Given the description of an element on the screen output the (x, y) to click on. 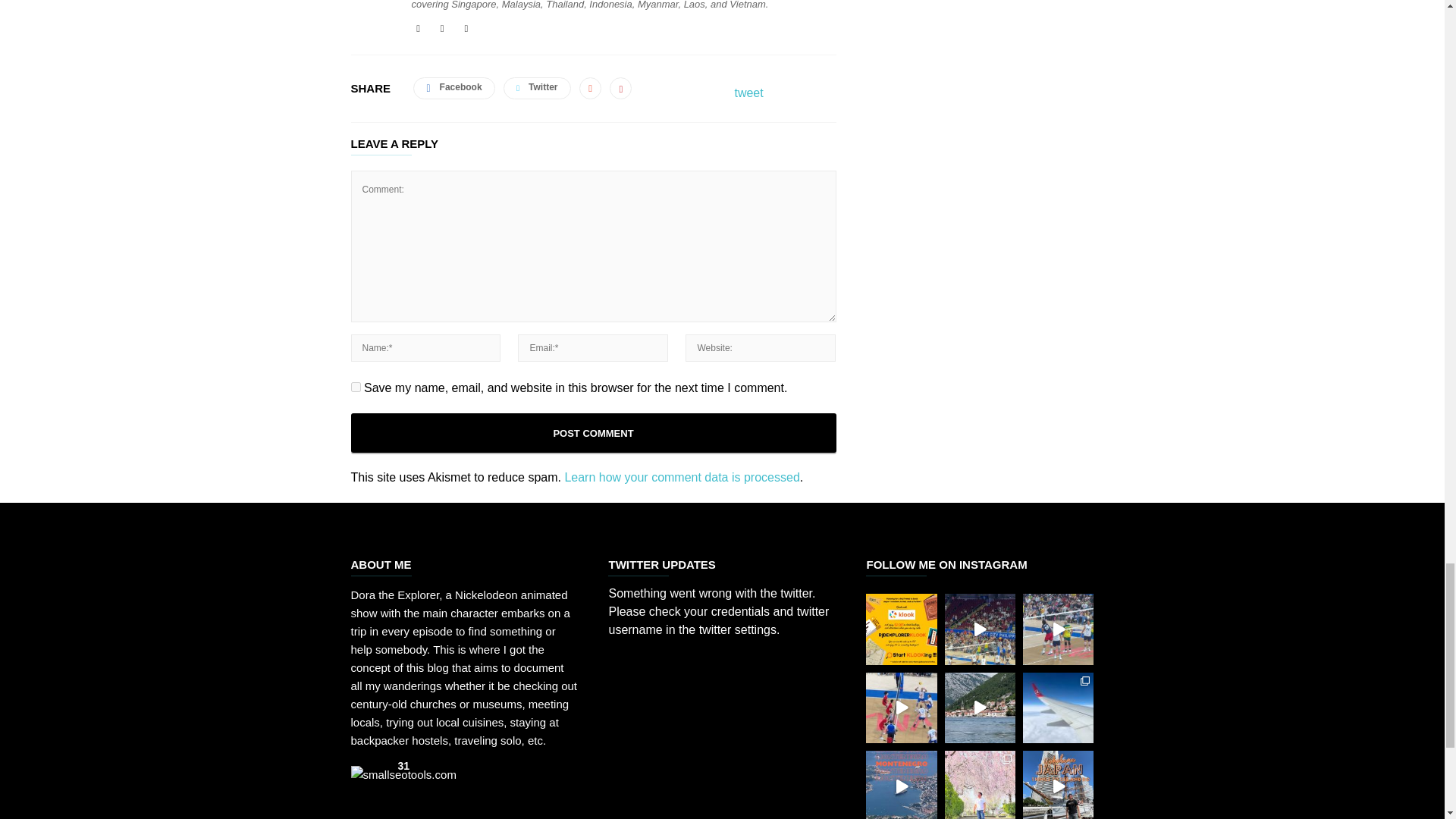
yes (354, 387)
Post Comment (592, 432)
